Given the description of an element on the screen output the (x, y) to click on. 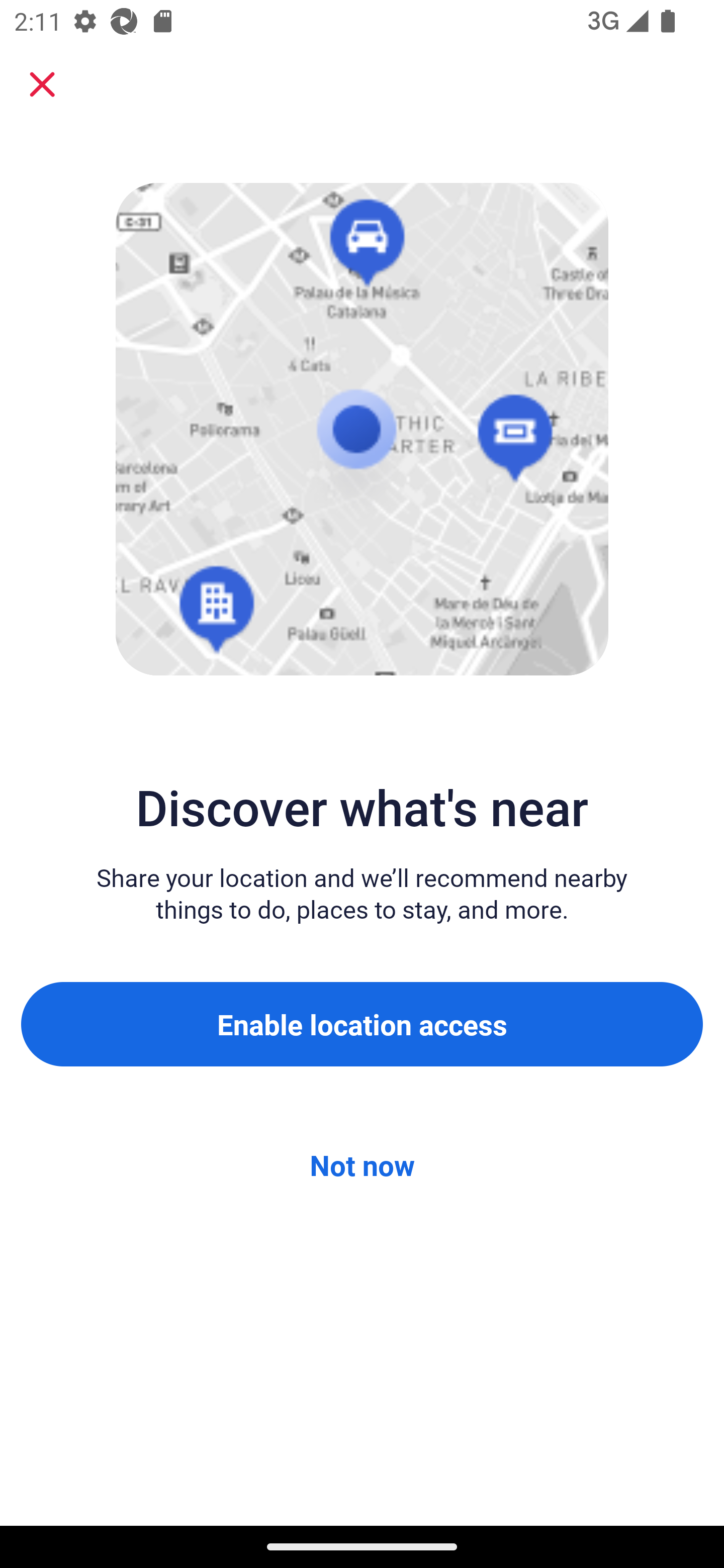
Close sheet (42, 84)
Enable location access (361, 1023)
Not now (362, 1164)
